Given the description of an element on the screen output the (x, y) to click on. 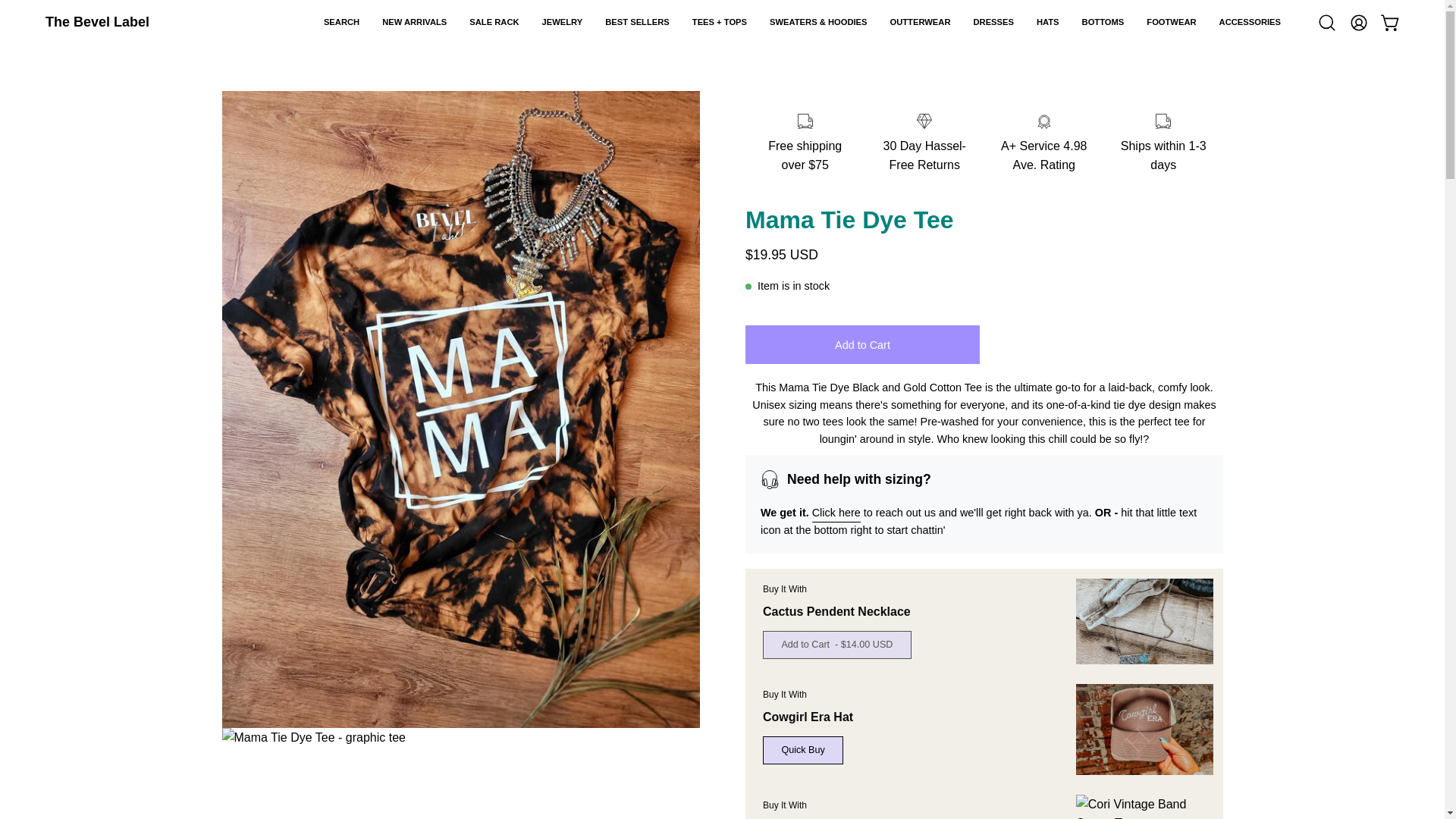
The Bevel Label (97, 22)
Open search bar (1326, 22)
Contact (835, 512)
